Given the description of an element on the screen output the (x, y) to click on. 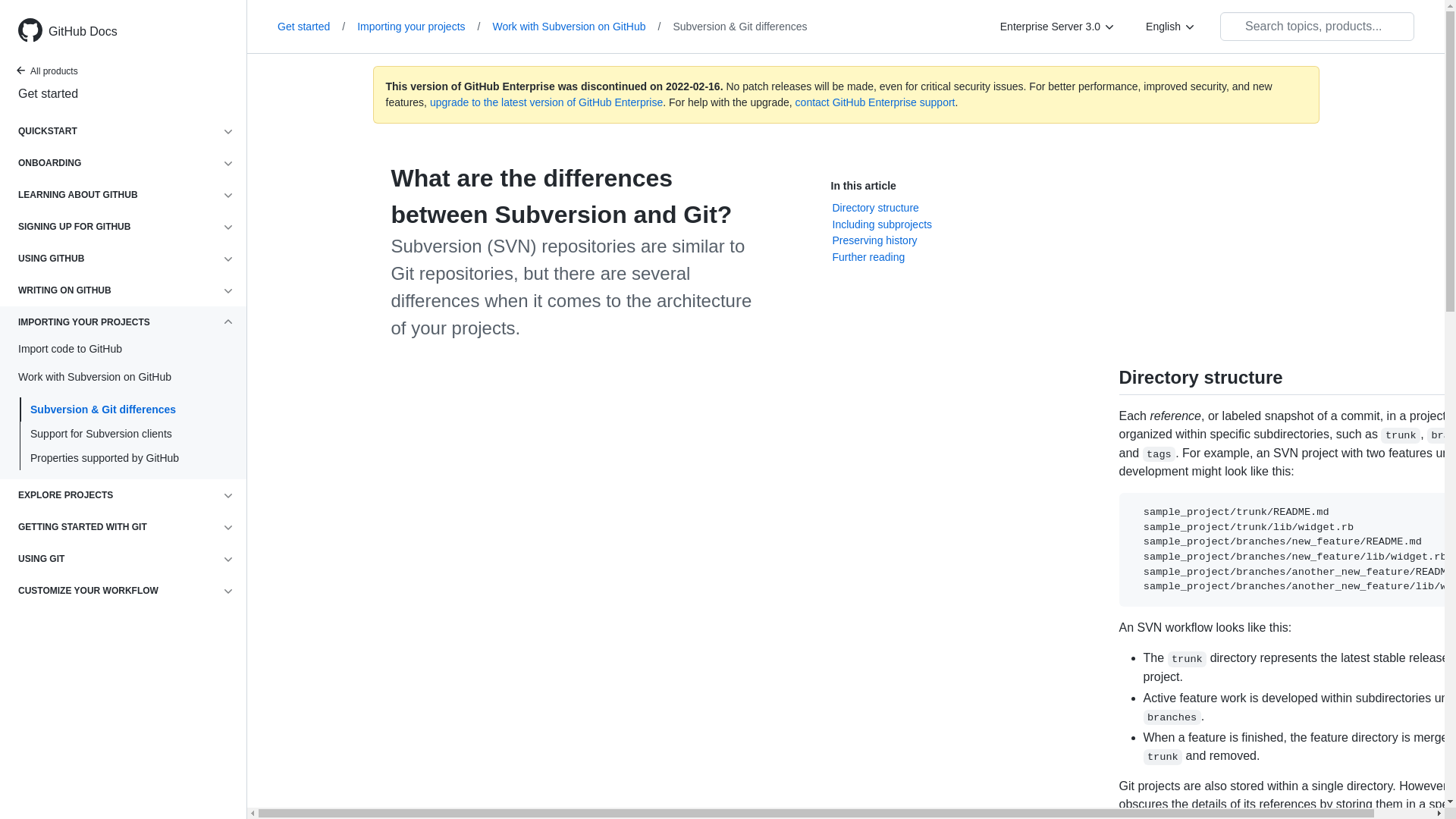
Importing your projects (424, 26)
All products (50, 72)
Get started (317, 26)
GitHub Docs (135, 31)
2022-02-16 (692, 86)
Get started (123, 94)
Get started (50, 94)
Work with Subversion on GitHub (582, 26)
